Given the description of an element on the screen output the (x, y) to click on. 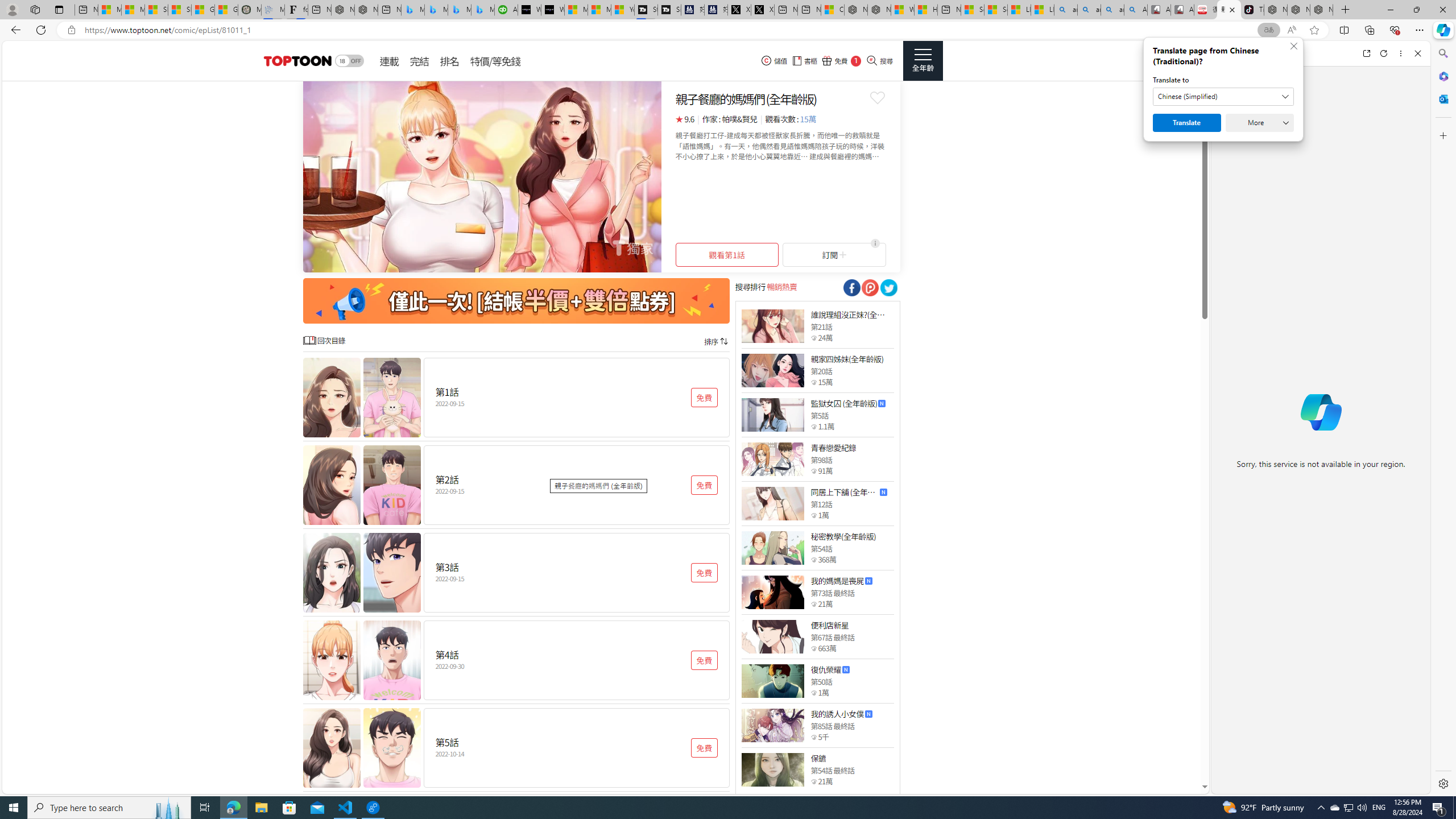
Side bar (1443, 418)
Show translate options (1268, 29)
Streaming Coverage | T3 (645, 9)
Customize (1442, 135)
Microsoft Bing Travel - Stays in Bangkok, Bangkok, Thailand (435, 9)
Nordace - Summer Adventures 2024 (879, 9)
Open link in new tab (1366, 53)
Gilma and Hector both pose tropical trouble for Hawaii (226, 9)
